Given the description of an element on the screen output the (x, y) to click on. 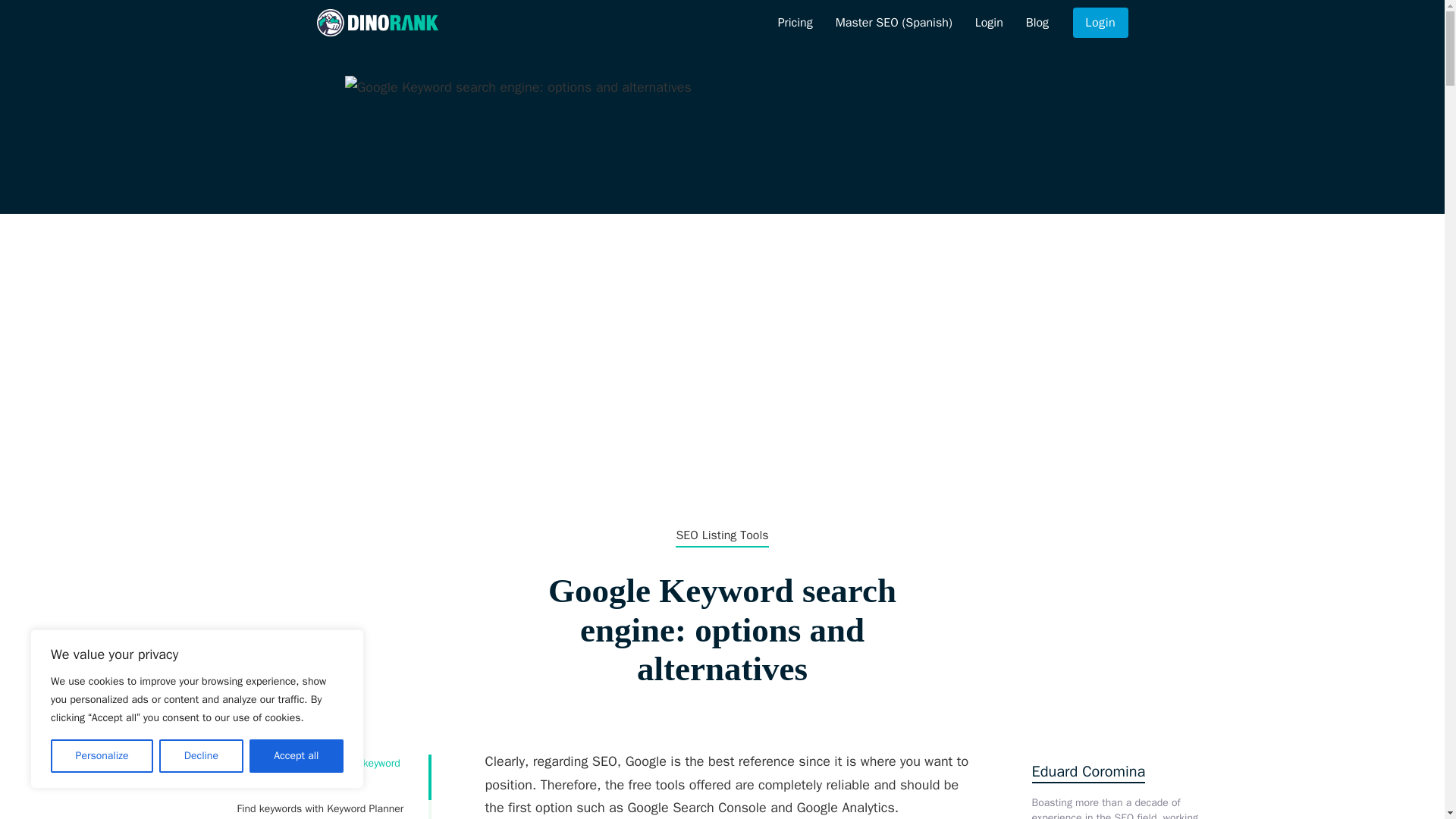
Login (1099, 22)
Pricing (794, 23)
Find keywords with Keyword Planner (321, 809)
Blog (1037, 23)
Login (989, 23)
Decline (200, 756)
Eduard Coromina (1087, 772)
SEO Listing Tools (721, 535)
Personalize (101, 756)
Accept all (295, 756)
